Given the description of an element on the screen output the (x, y) to click on. 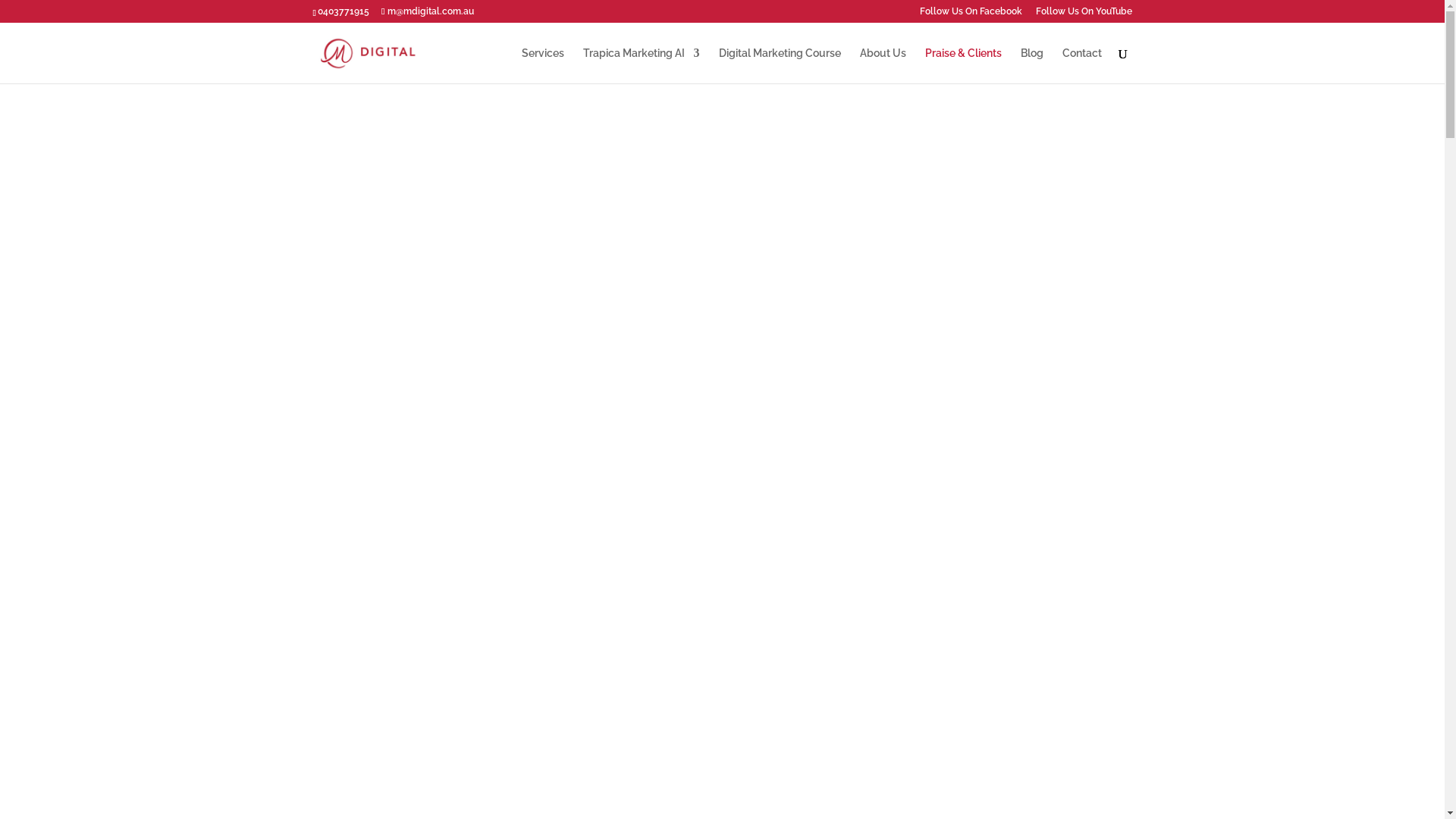
Blog Element type: text (1031, 65)
Follow Us On YouTube Element type: text (1083, 14)
About Us Element type: text (882, 65)
Digital Marketing Course Element type: text (779, 65)
Praise & Clients Element type: text (963, 65)
m@mdigital.com.au Element type: text (427, 11)
Follow Us On Facebook Element type: text (970, 14)
Trapica Marketing AI Element type: text (640, 65)
Services Element type: text (542, 65)
Contact Element type: text (1081, 65)
